Given the description of an element on the screen output the (x, y) to click on. 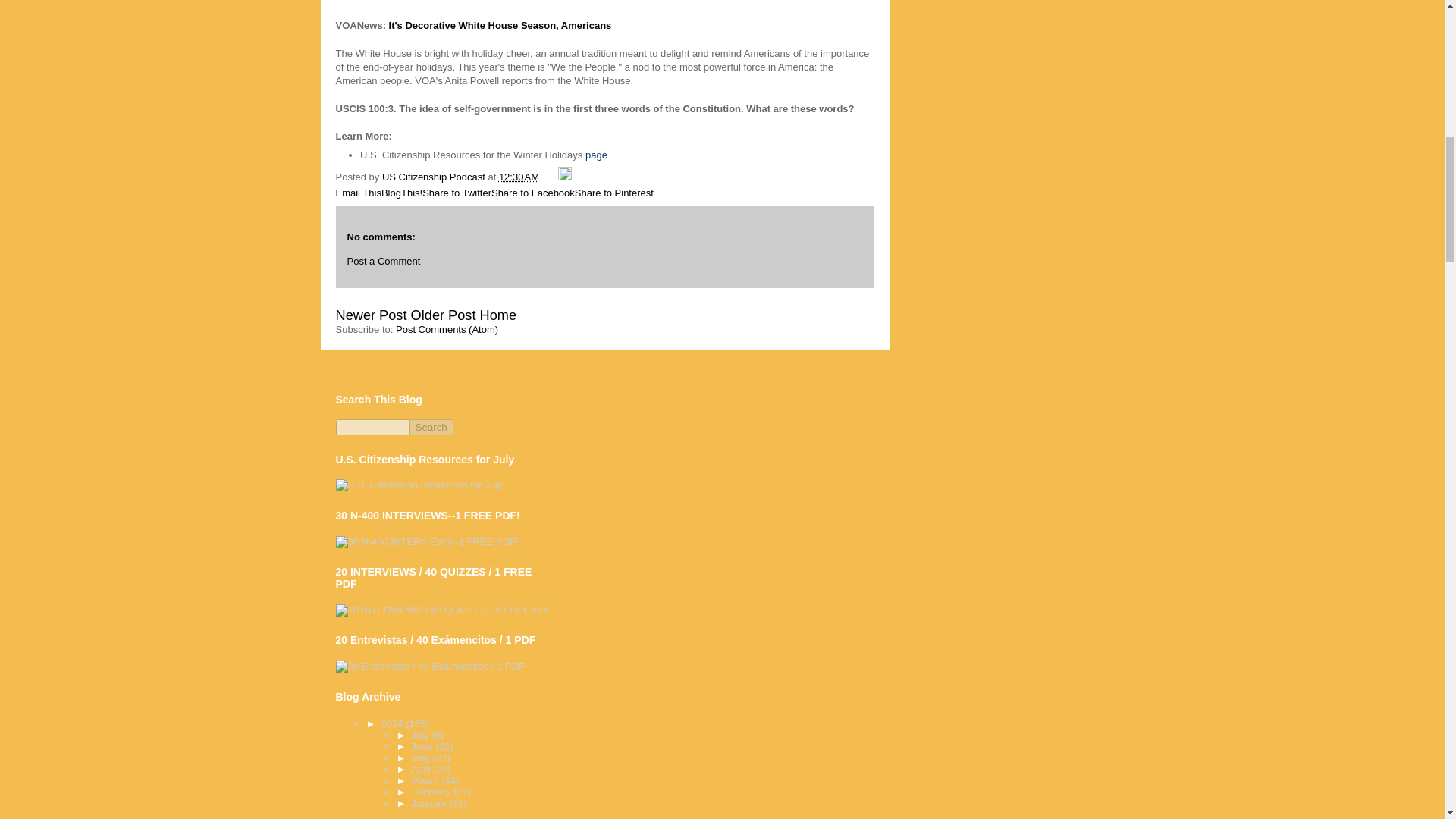
It's Decorative White House Season, Americans (499, 25)
2024 (393, 723)
Newer Post (370, 314)
Email This (357, 193)
BlogThis! (401, 193)
Share to Pinterest (614, 193)
Email This (357, 193)
May (422, 757)
Search (430, 426)
author profile (434, 176)
BlogThis! (401, 193)
Search (430, 426)
June (423, 746)
page (596, 154)
